Given the description of an element on the screen output the (x, y) to click on. 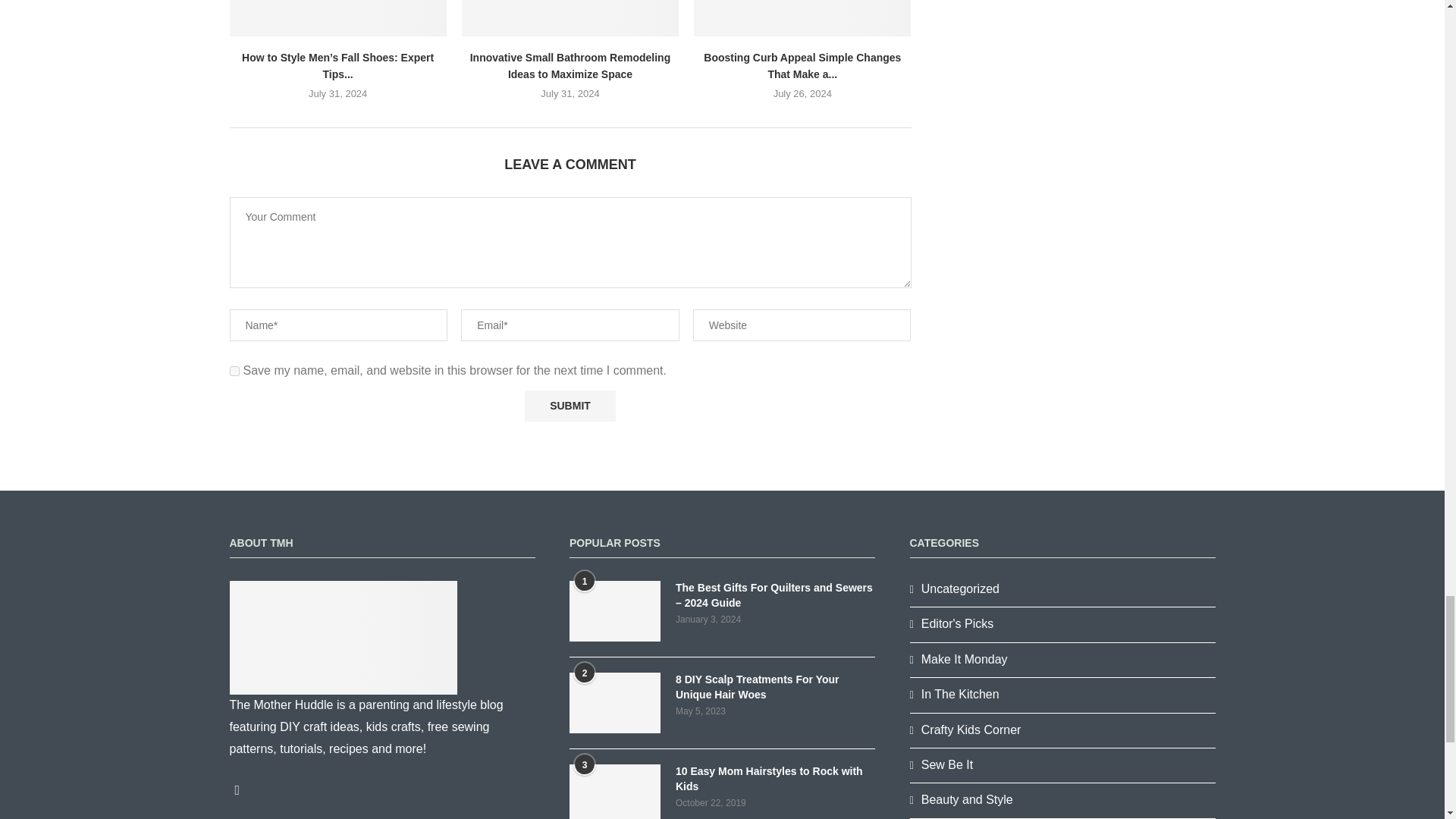
Innovative Small Bathroom Remodeling Ideas to Maximize Space (569, 18)
Submit (569, 405)
Innovative Small Bathroom Remodeling Ideas to Maximize Space (570, 65)
Boosting Curb Appeal Simple Changes That Make a... (802, 65)
yes (233, 370)
